Given the description of an element on the screen output the (x, y) to click on. 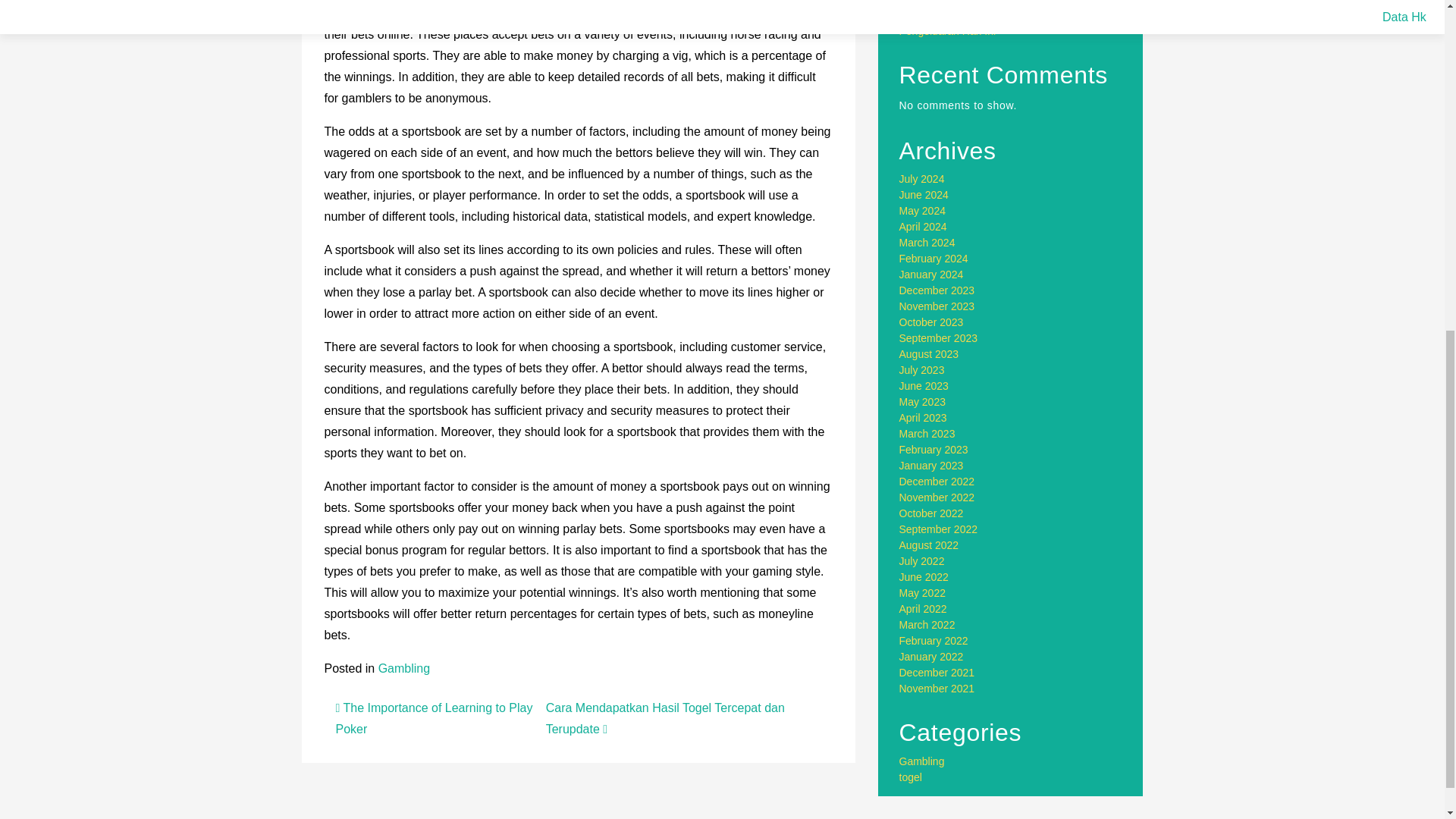
February 2024 (933, 258)
June 2022 (924, 576)
Gambling (403, 667)
December 2023 (937, 290)
July 2022 (921, 561)
October 2023 (931, 322)
July 2023 (921, 369)
April 2024 (923, 226)
January 2024 (931, 274)
June 2023 (924, 386)
